Given the description of an element on the screen output the (x, y) to click on. 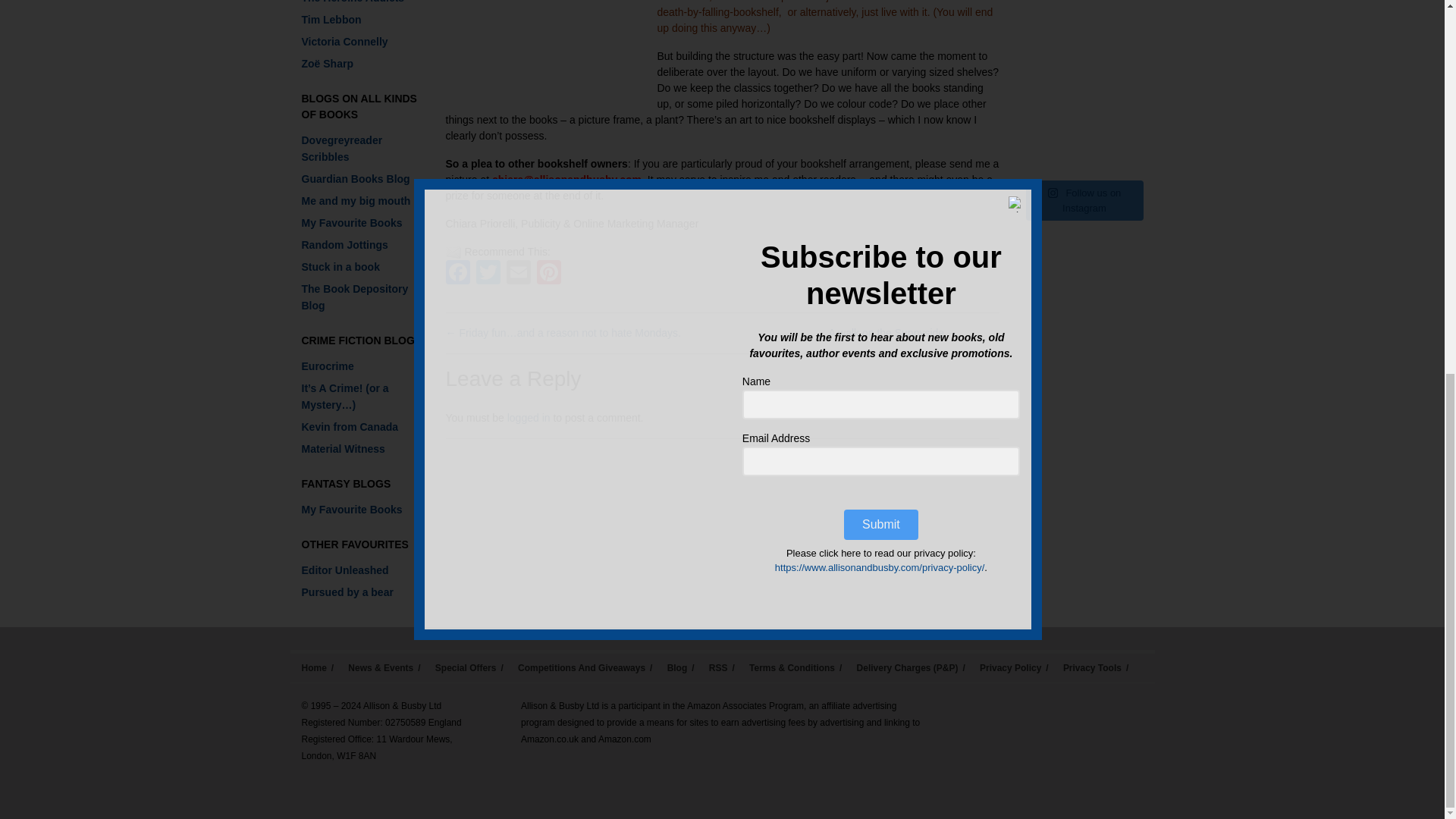
The Heroine Addicts (352, 2)
Tim Lebbon (331, 19)
Guardian Books Blog (355, 178)
A commuting book and opera-holic from Colchester (344, 244)
Victoria Connelly (344, 41)
A penchant for fantasy but reviews everything (352, 223)
Dovegreyreader Scribbles (341, 148)
